Given the description of an element on the screen output the (x, y) to click on. 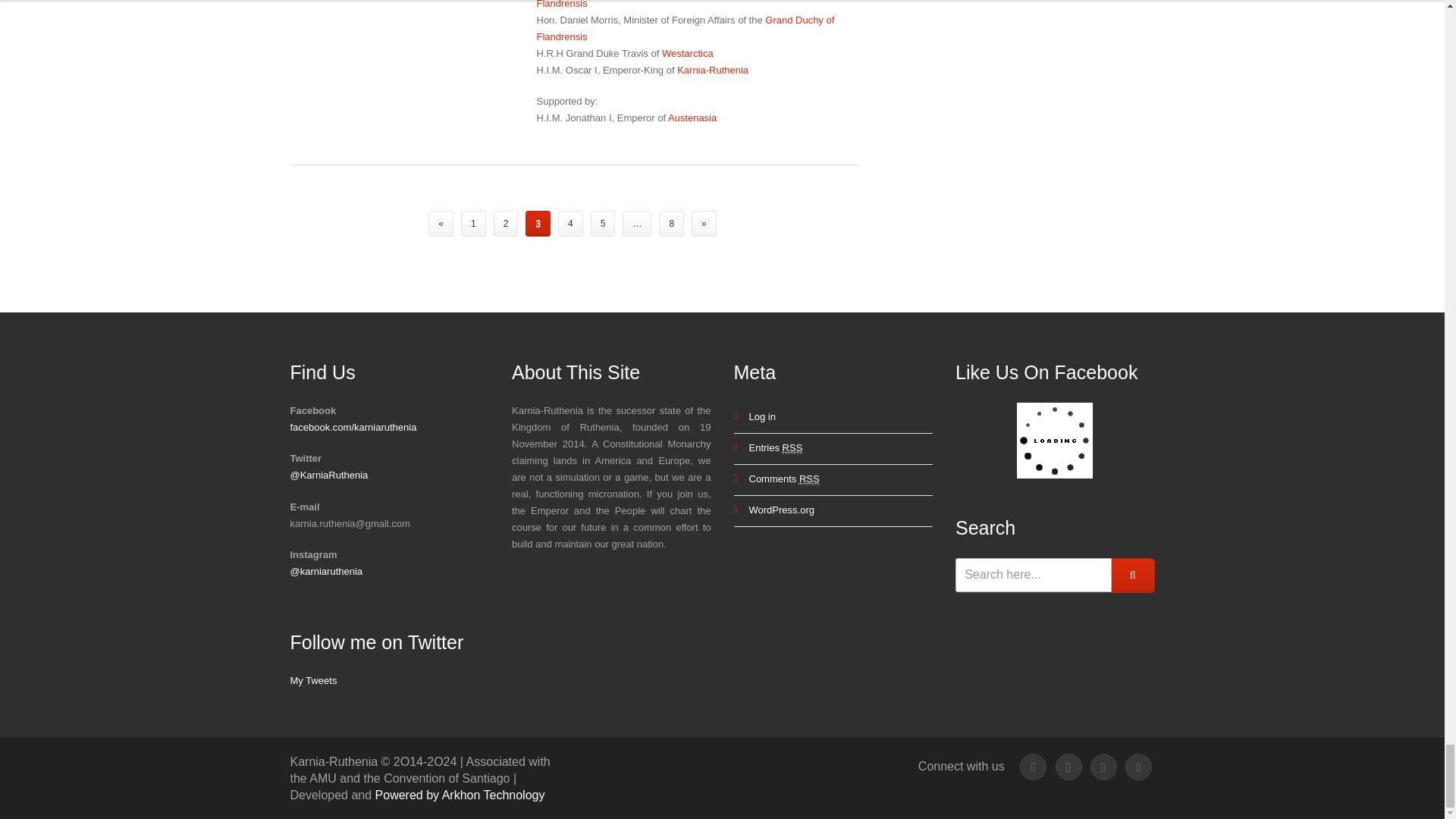
Really Simple Syndication (793, 448)
Really Simple Syndication (809, 479)
